Given the description of an element on the screen output the (x, y) to click on. 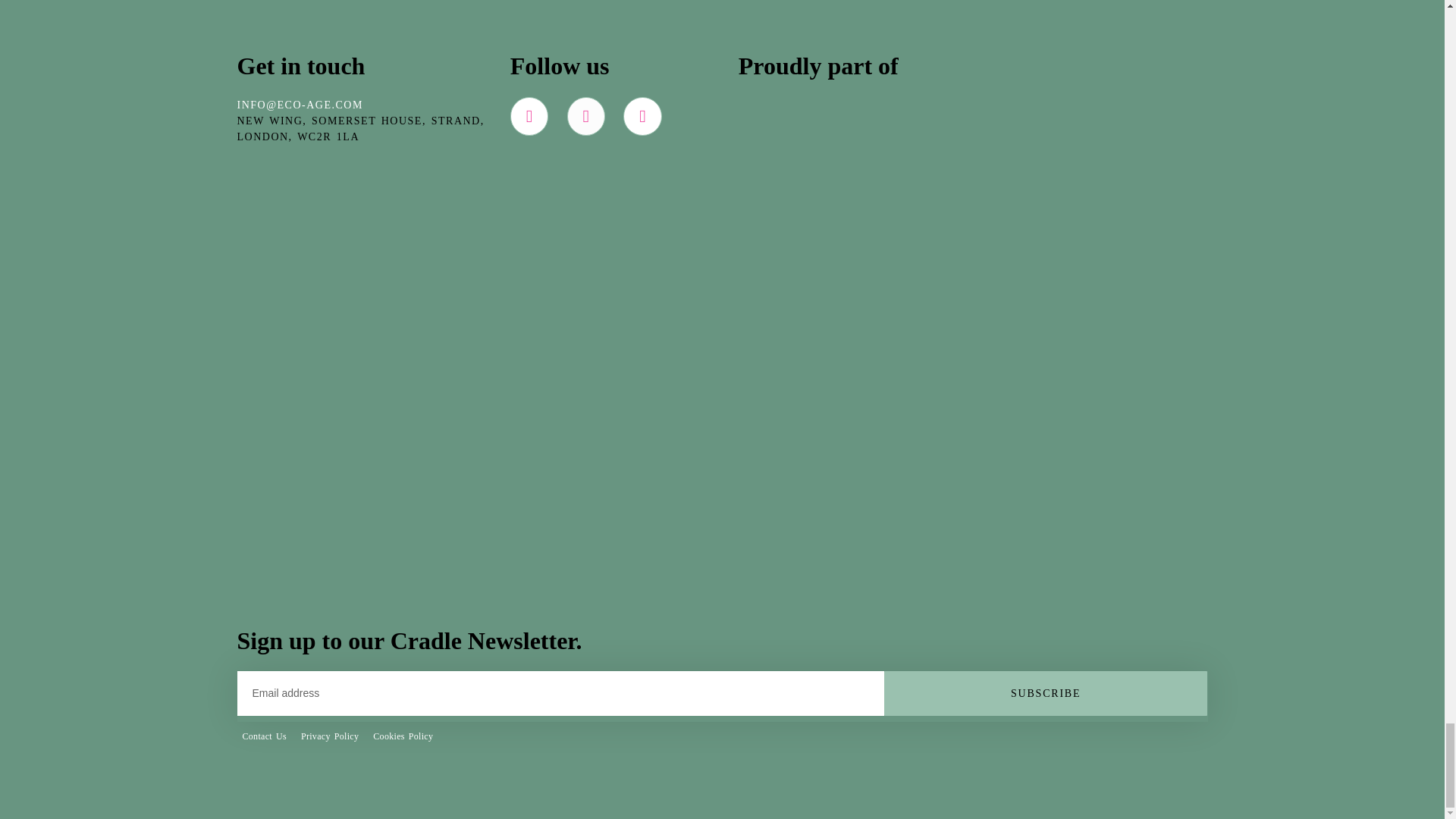
Privacy Policy (329, 736)
Contact Us (264, 736)
Cookies Policy (402, 736)
SUBSCRIBE (1045, 692)
